Given the description of an element on the screen output the (x, y) to click on. 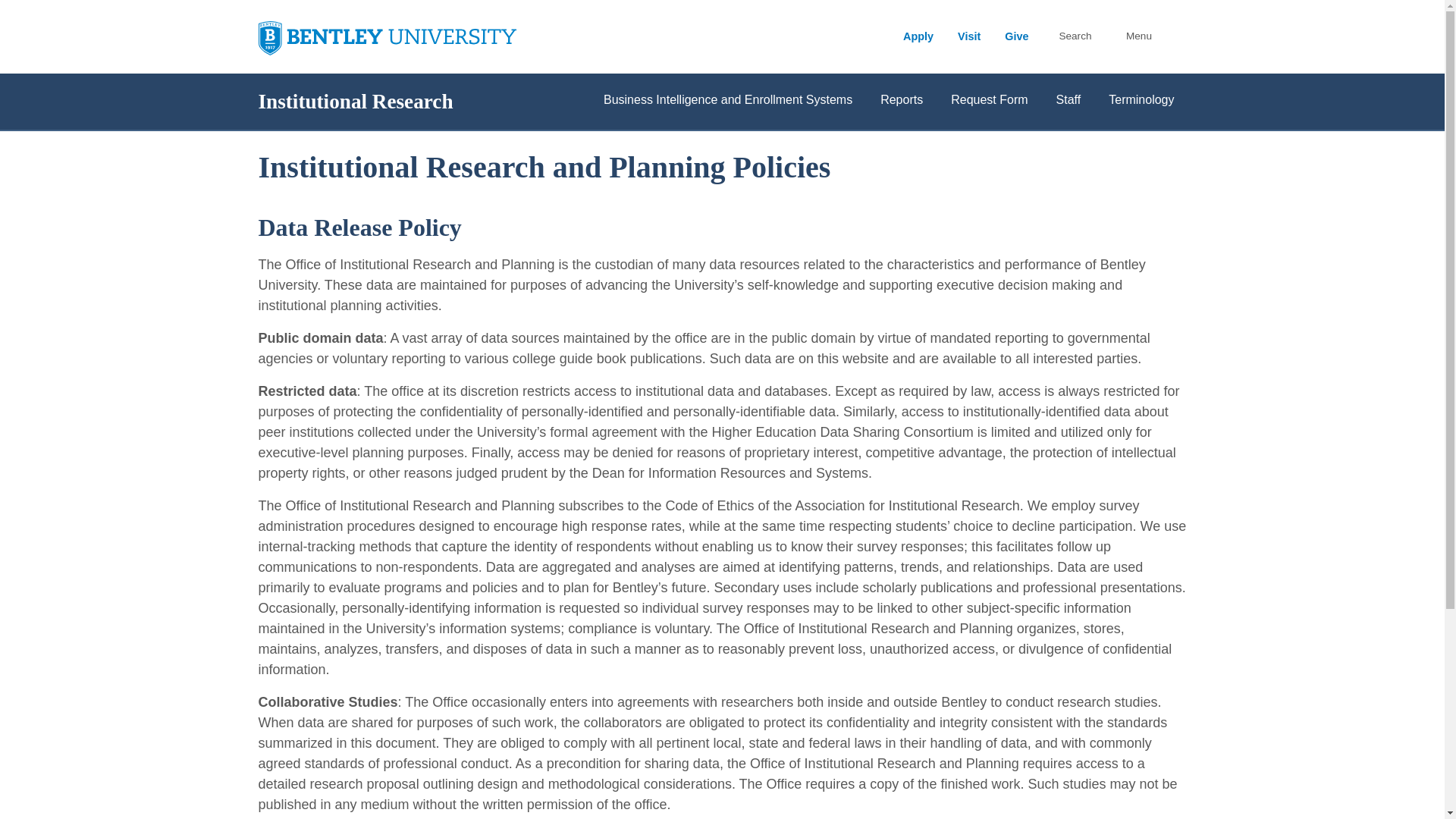
Reports (900, 101)
Business Intelligence and Enrollment Systems (727, 101)
Terminology (1141, 101)
Apply (917, 36)
Request Form (989, 101)
Visit (968, 36)
Give (1015, 36)
Institutional Research (354, 101)
